Given the description of an element on the screen output the (x, y) to click on. 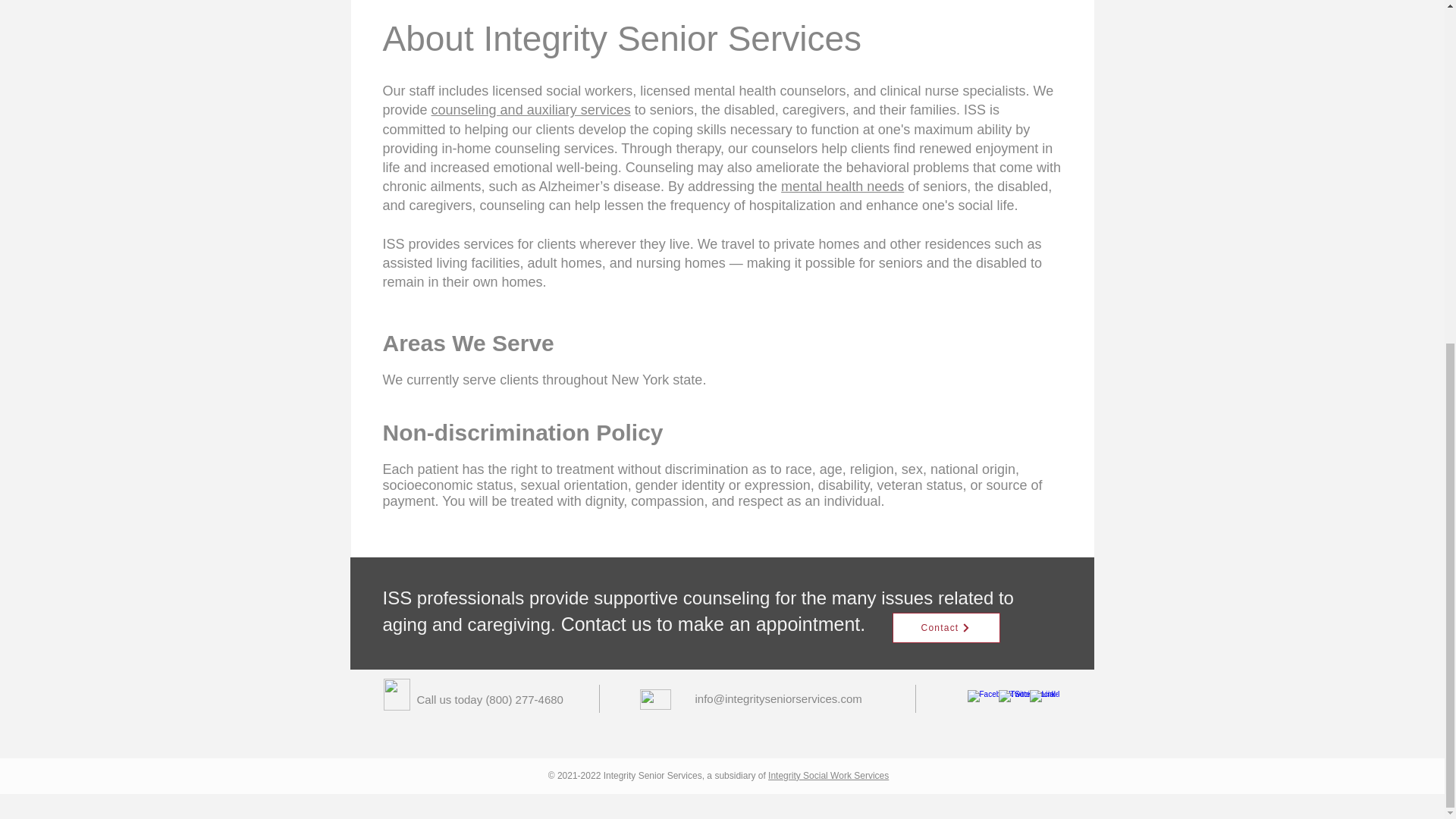
mental health needs (842, 186)
counseling and auxiliary services (530, 109)
Integrity Social Work Services (828, 775)
Contact us to make an appointment. (713, 623)
Contact (944, 627)
